Given the description of an element on the screen output the (x, y) to click on. 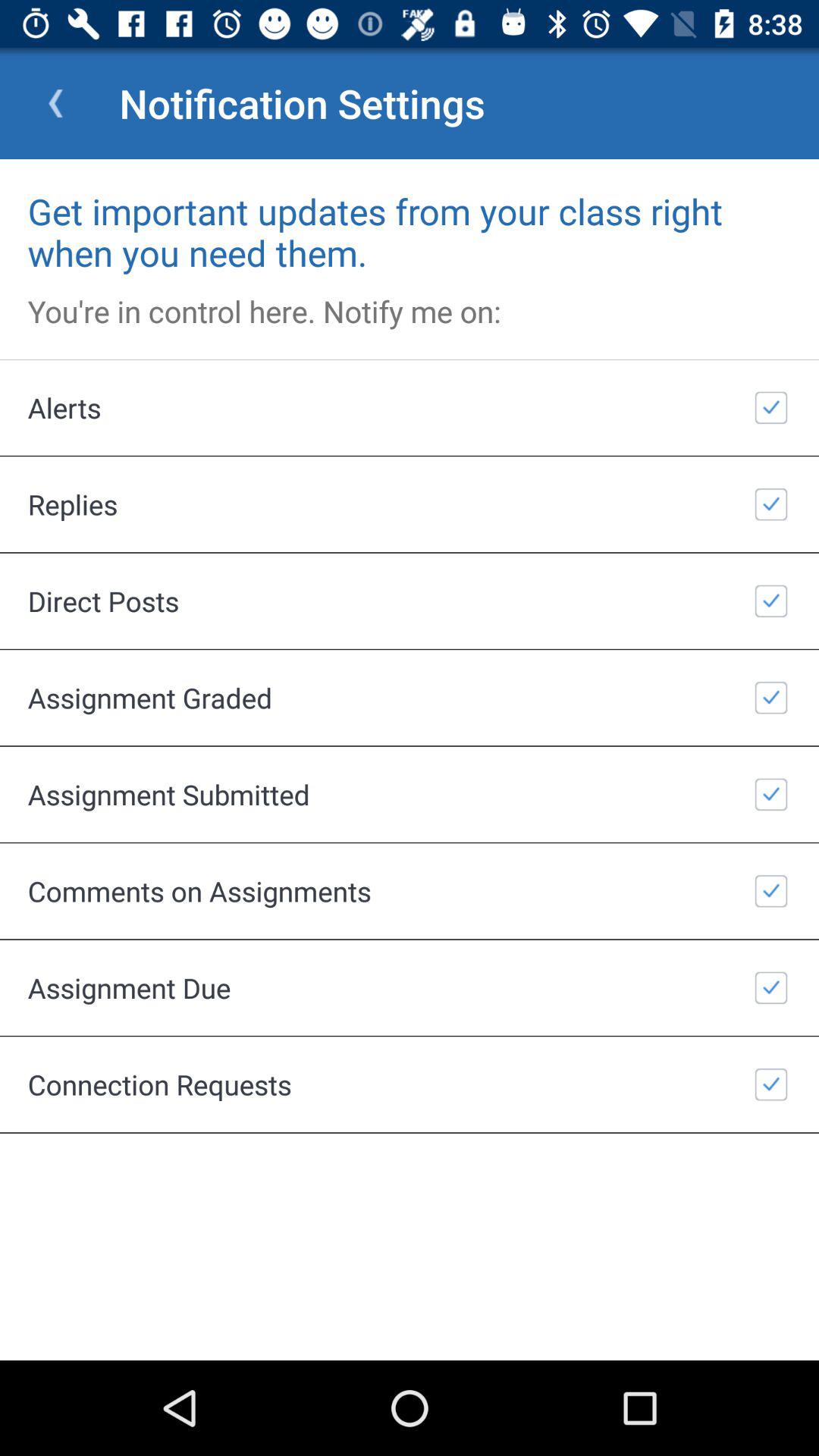
press item below assignment due (409, 1084)
